Given the description of an element on the screen output the (x, y) to click on. 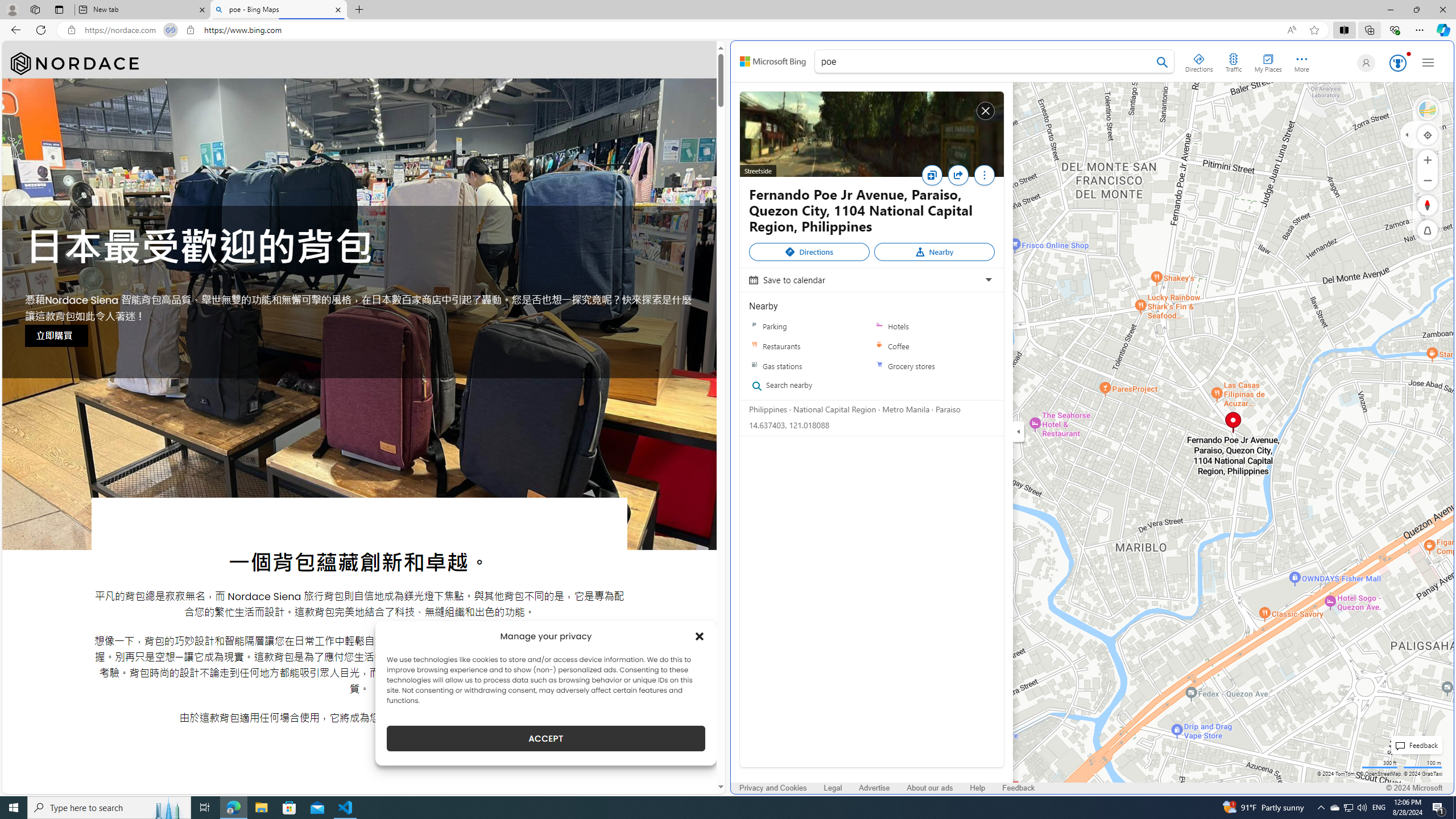
Grocery stores (879, 365)
poe (994, 62)
Directions (808, 252)
More (984, 177)
Legal (832, 787)
My Places (1267, 60)
Parking (808, 326)
Gas stations (808, 365)
Eugene (1363, 62)
Tabs in split screen (170, 29)
